Given the description of an element on the screen output the (x, y) to click on. 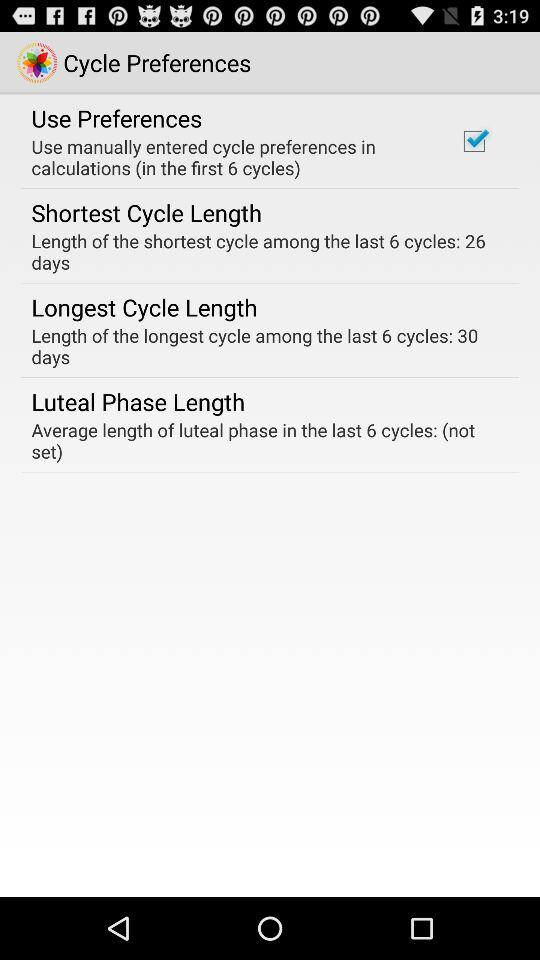
swipe to use manually entered icon (231, 157)
